Given the description of an element on the screen output the (x, y) to click on. 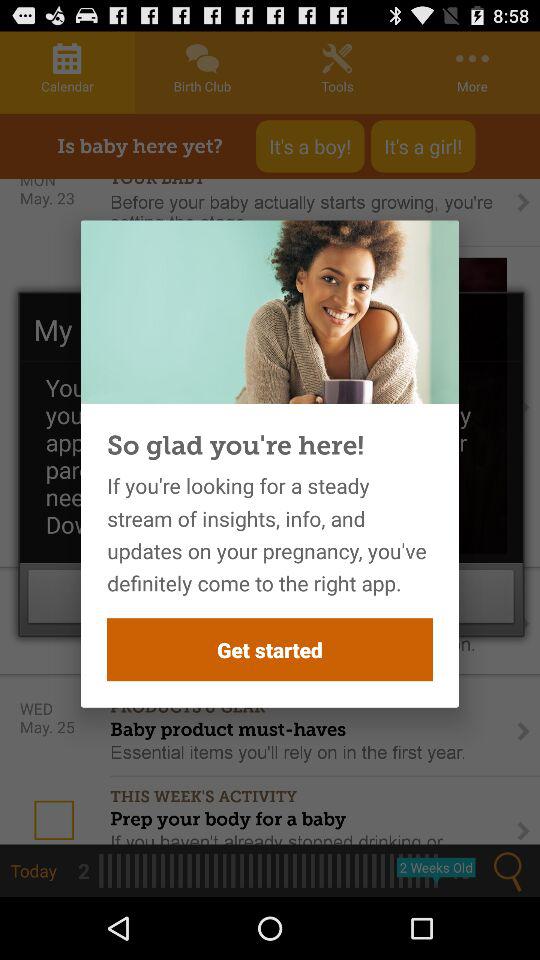
flip until the get started item (269, 649)
